Given the description of an element on the screen output the (x, y) to click on. 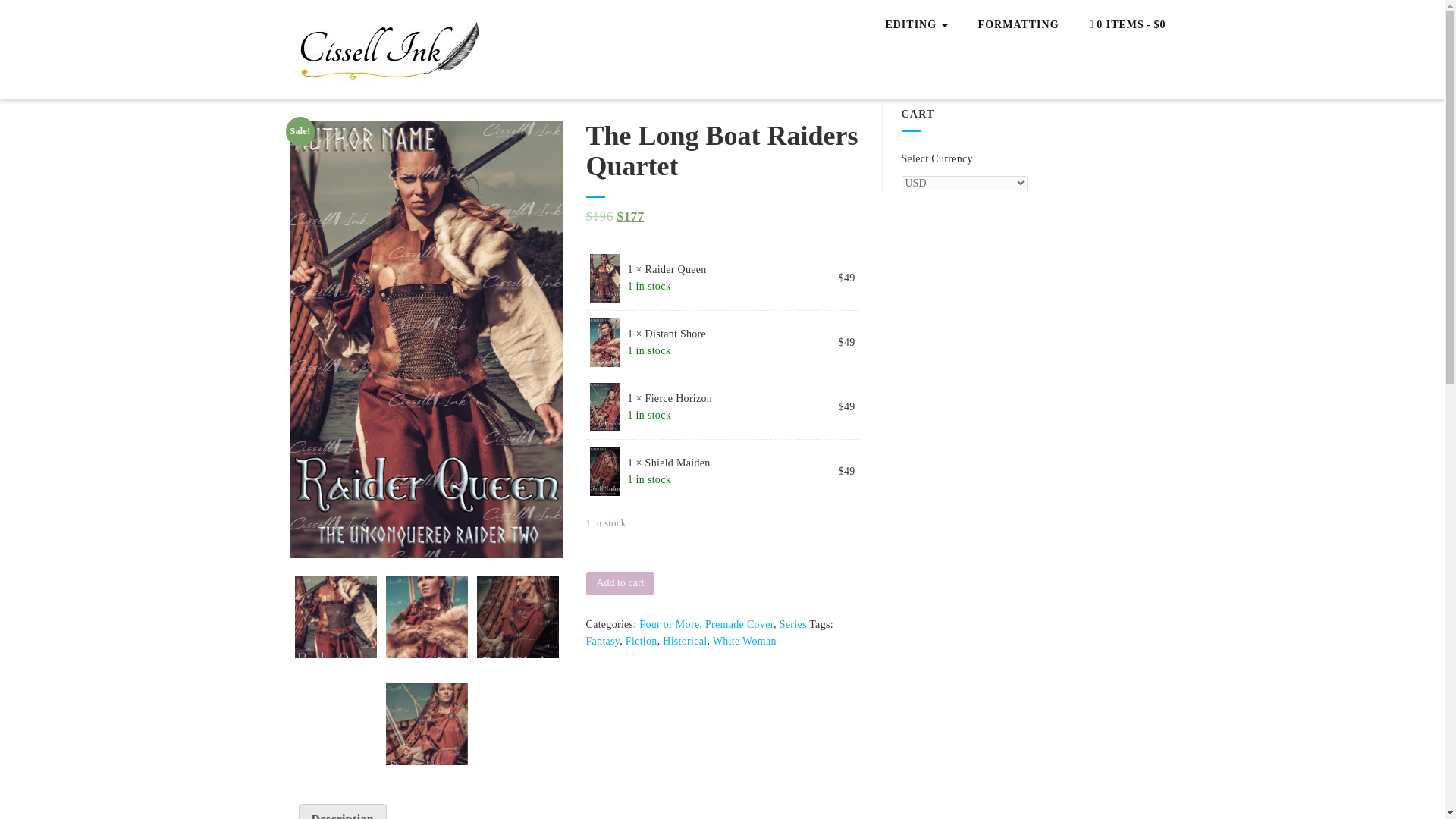
Start shopping (1127, 25)
Historical (684, 641)
Distant Shore (426, 617)
Four or More (668, 624)
Fierce Horizon (426, 723)
Formatting (1018, 25)
Raider Queen (334, 617)
EDITING (916, 24)
Fantasy (602, 641)
FORMATTING (1018, 25)
